Given the description of an element on the screen output the (x, y) to click on. 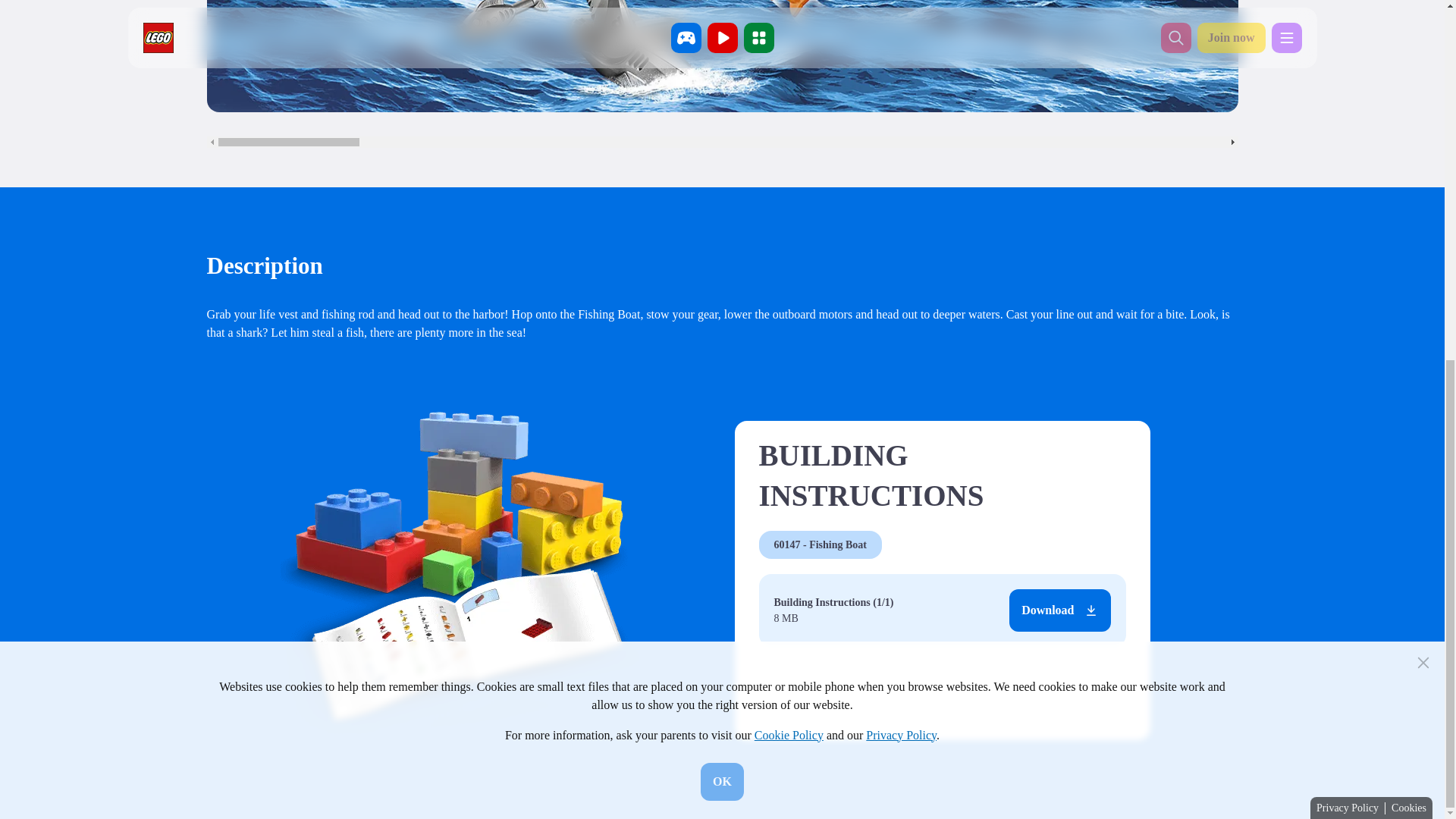
Privacy Policy (1347, 170)
Download (1059, 609)
Cookie Policy (789, 97)
Privacy Policy (901, 97)
Cookies (1408, 170)
OK (722, 143)
